Given the description of an element on the screen output the (x, y) to click on. 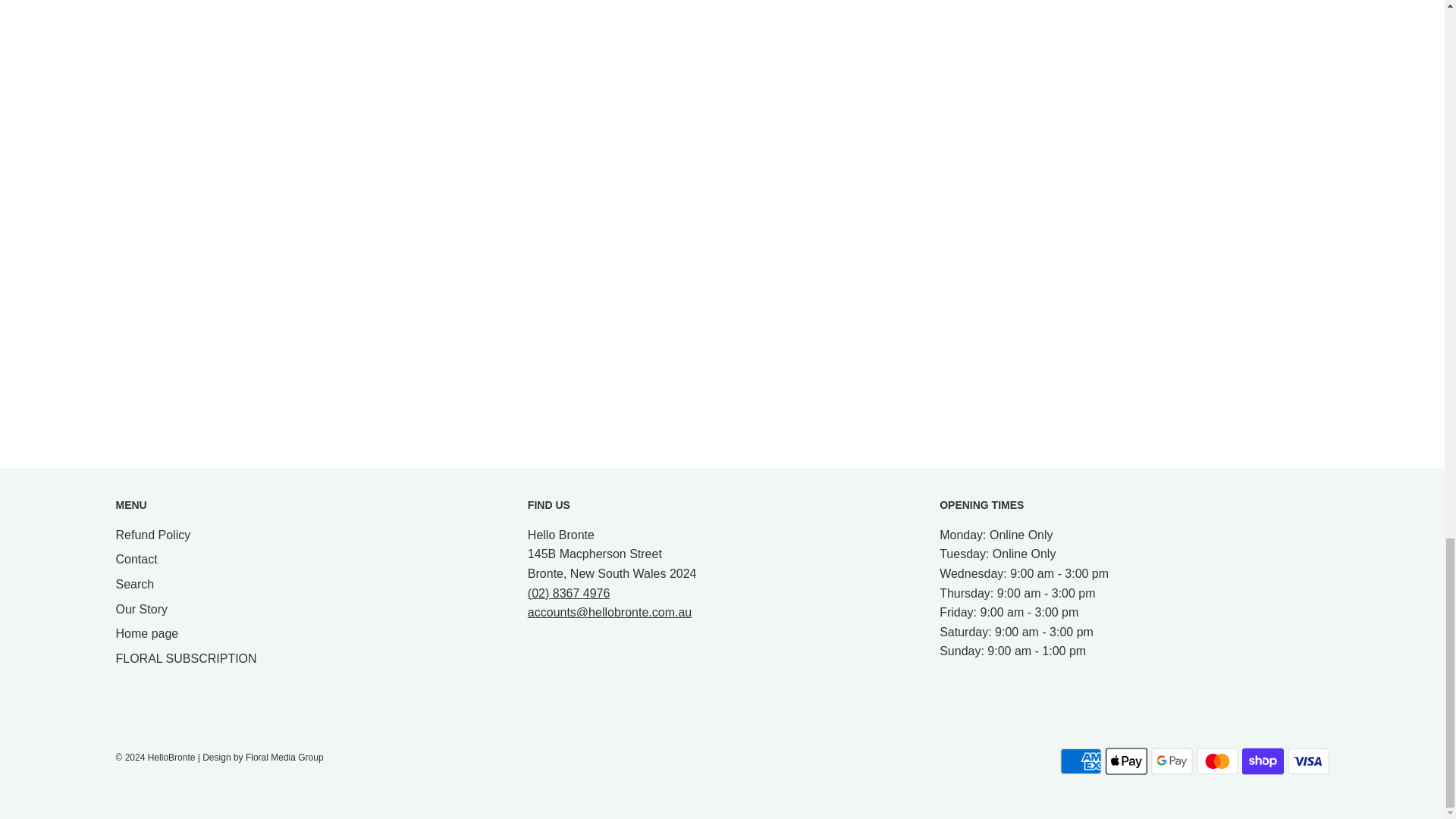
American Express (1080, 761)
Visa (1308, 761)
Mastercard (1217, 761)
Shop Pay (1262, 761)
Google Pay (1171, 761)
Apple Pay (1126, 761)
